Given the description of an element on the screen output the (x, y) to click on. 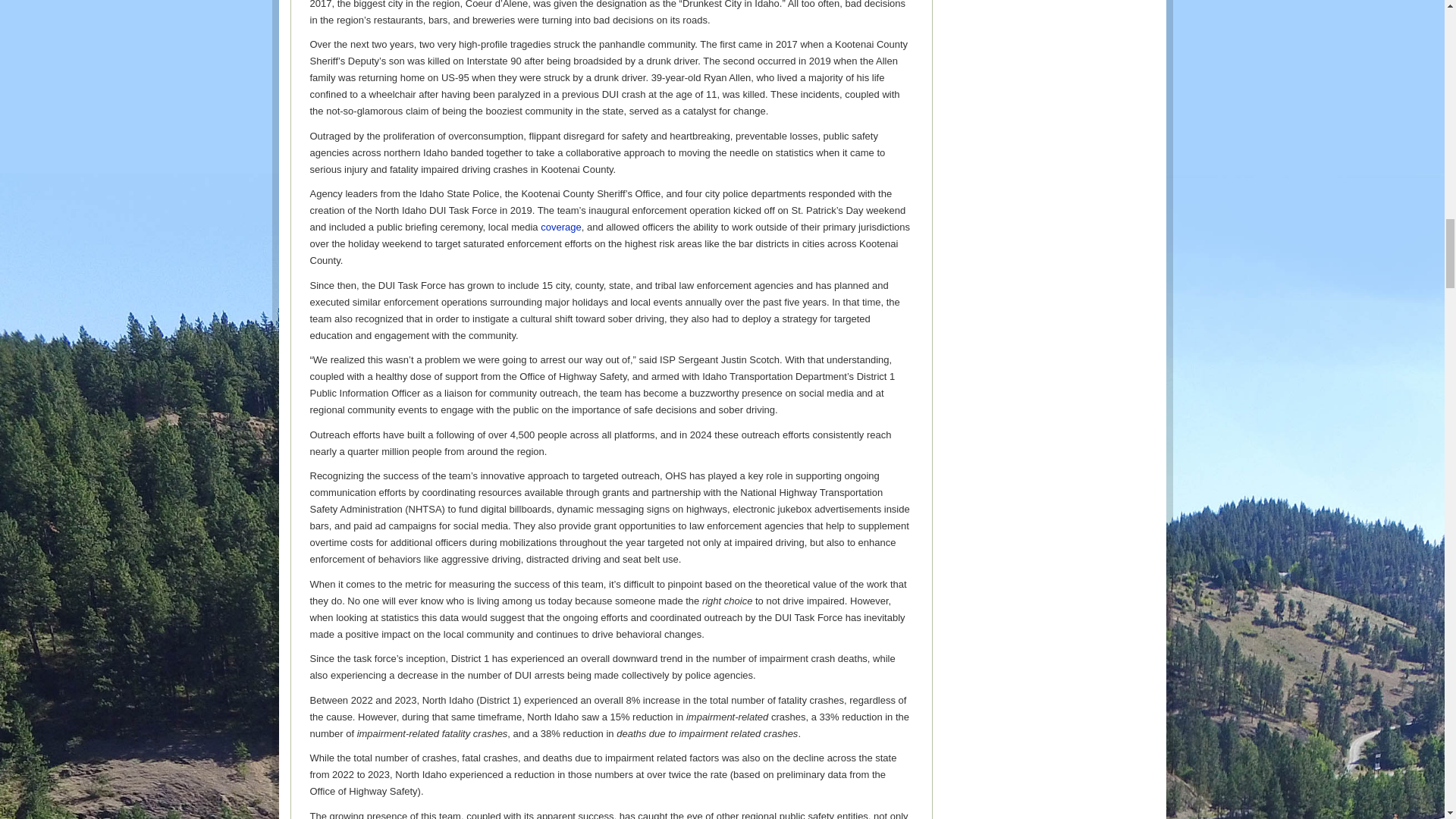
coverage (560, 226)
